Given the description of an element on the screen output the (x, y) to click on. 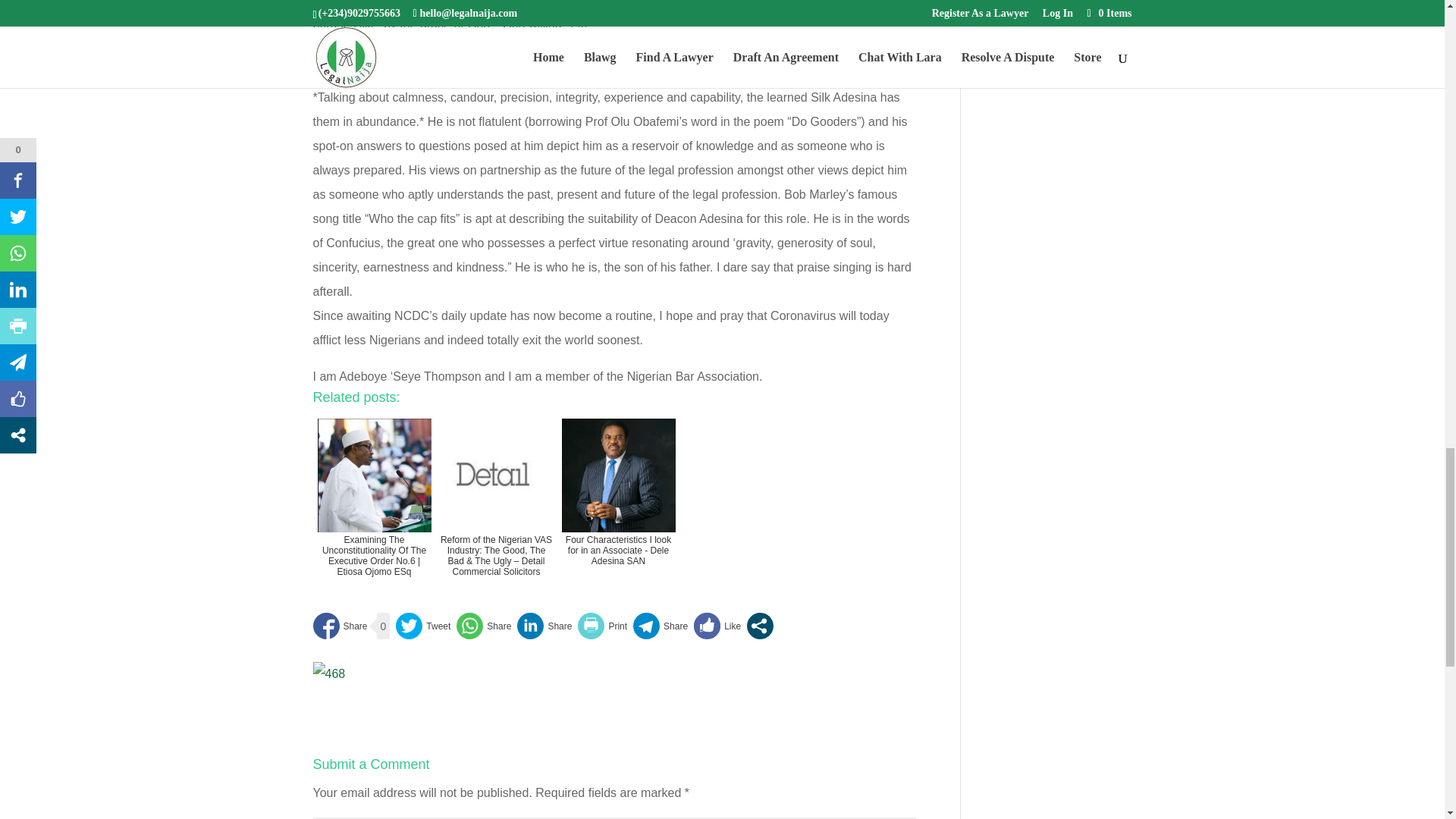
Tweet (422, 625)
Share on Facebook (339, 625)
Share on WhatsApp (484, 625)
